Given the description of an element on the screen output the (x, y) to click on. 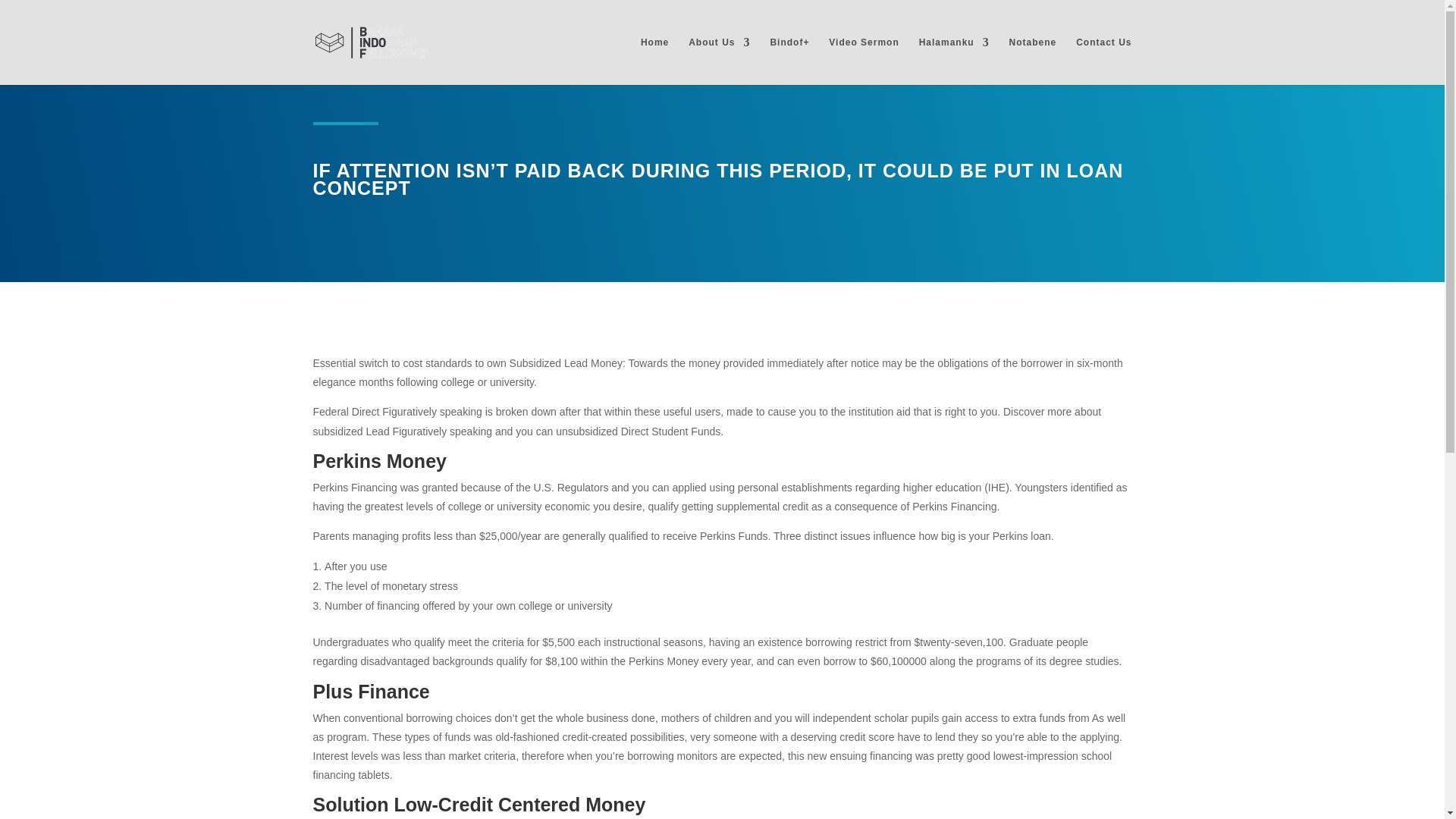
Halamanku (954, 60)
About Us (718, 60)
Video Sermon (863, 60)
Notabene (1033, 60)
Contact Us (1103, 60)
